Given the description of an element on the screen output the (x, y) to click on. 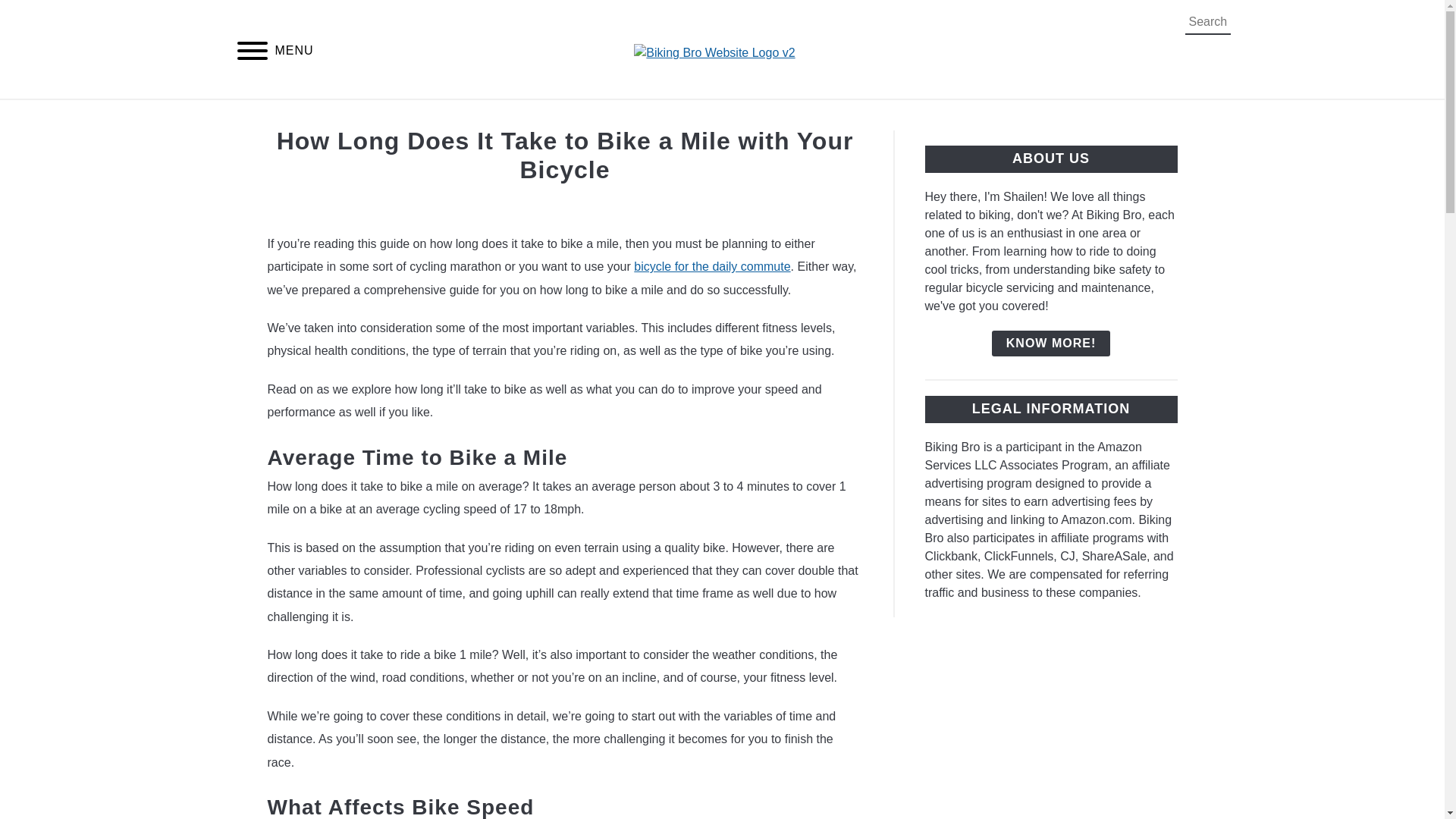
ACCESSORIES (482, 117)
BIKES (694, 117)
BLOG (763, 117)
COMPONENTS (861, 117)
ABOUT US (976, 117)
KNOW MORE! (1050, 343)
bicycle for the daily commute (711, 266)
MENU (251, 53)
BACKPACKS (603, 117)
